Given the description of an element on the screen output the (x, y) to click on. 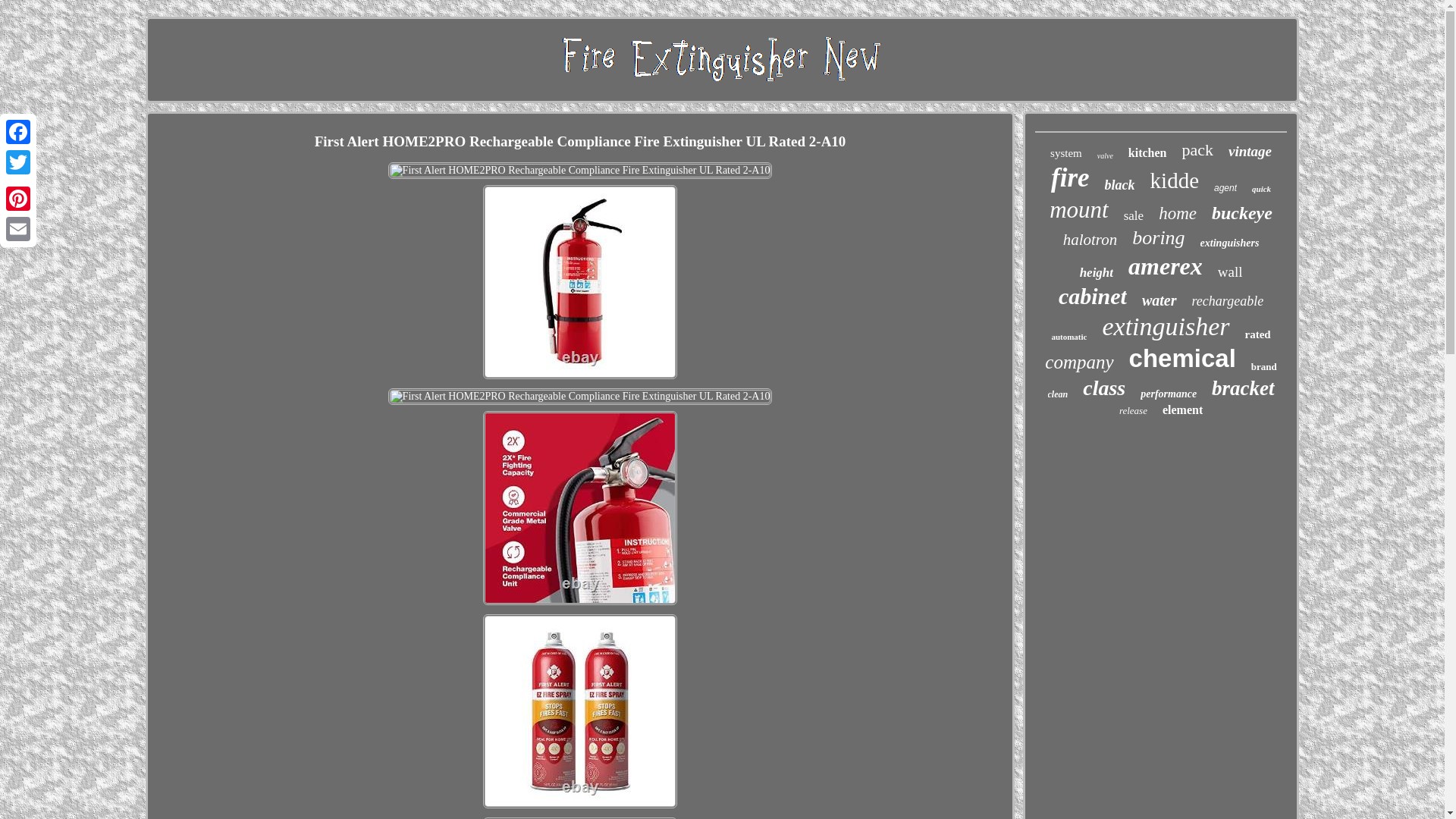
kitchen (1147, 152)
halotron (1090, 239)
company (1079, 362)
extinguisher (1165, 326)
amerex (1165, 266)
fire (1070, 177)
extinguishers (1229, 243)
Facebook (17, 132)
